Given the description of an element on the screen output the (x, y) to click on. 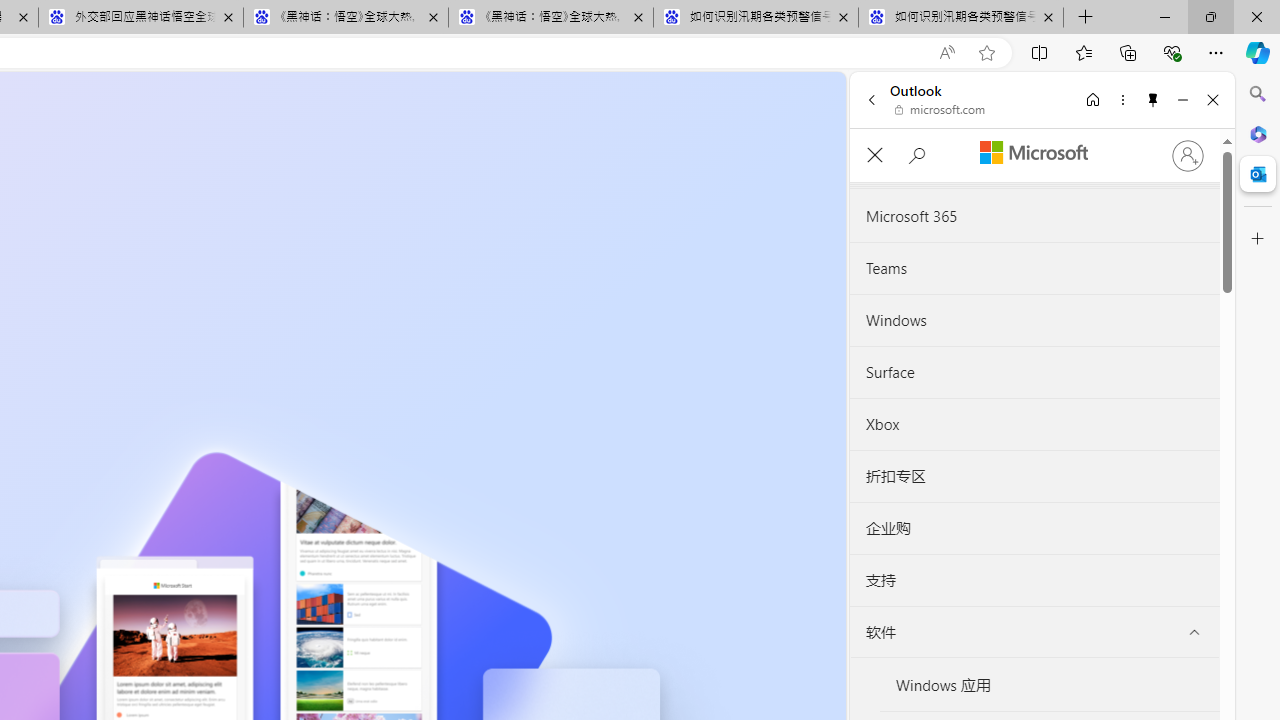
More options (1122, 99)
Xbox (1034, 424)
Surface (1034, 371)
Outlook (1258, 174)
